Given the description of an element on the screen output the (x, y) to click on. 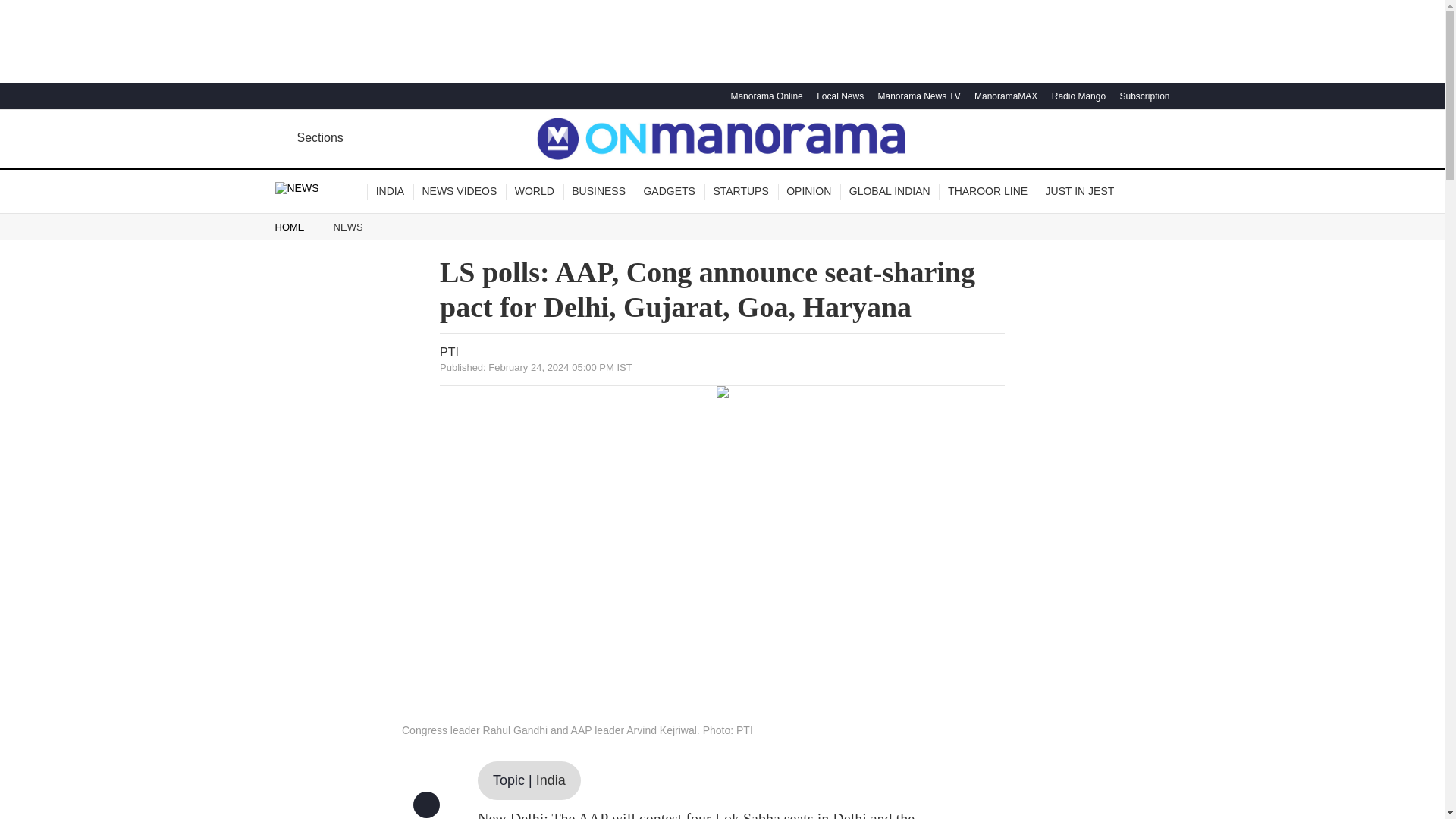
Manorama News TV (916, 95)
INDIA (390, 191)
BUSINESS (598, 191)
Radio Mango (1076, 95)
WORLD (534, 191)
